Given the description of an element on the screen output the (x, y) to click on. 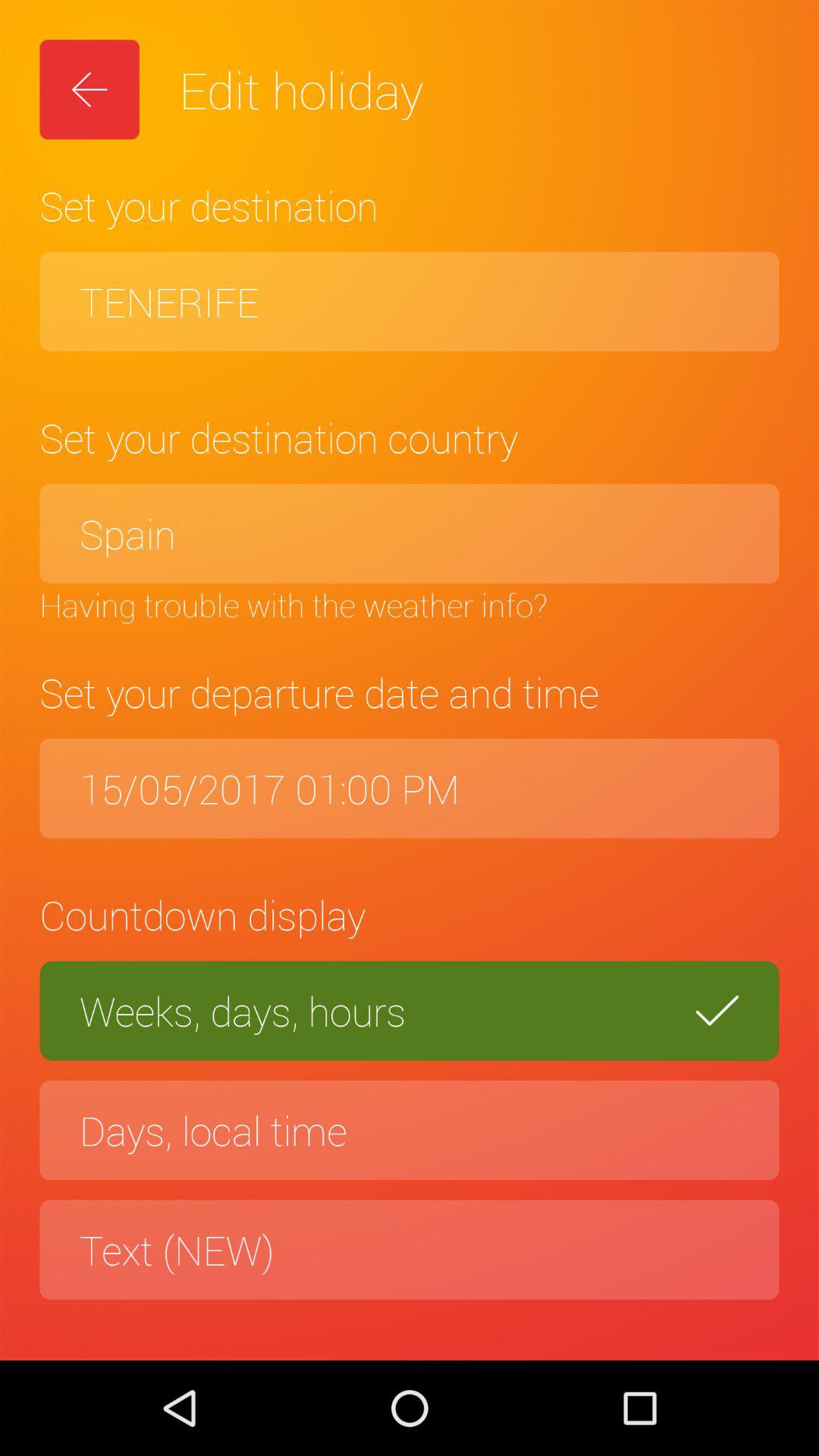
turn on item above the set your departure (409, 604)
